Given the description of an element on the screen output the (x, y) to click on. 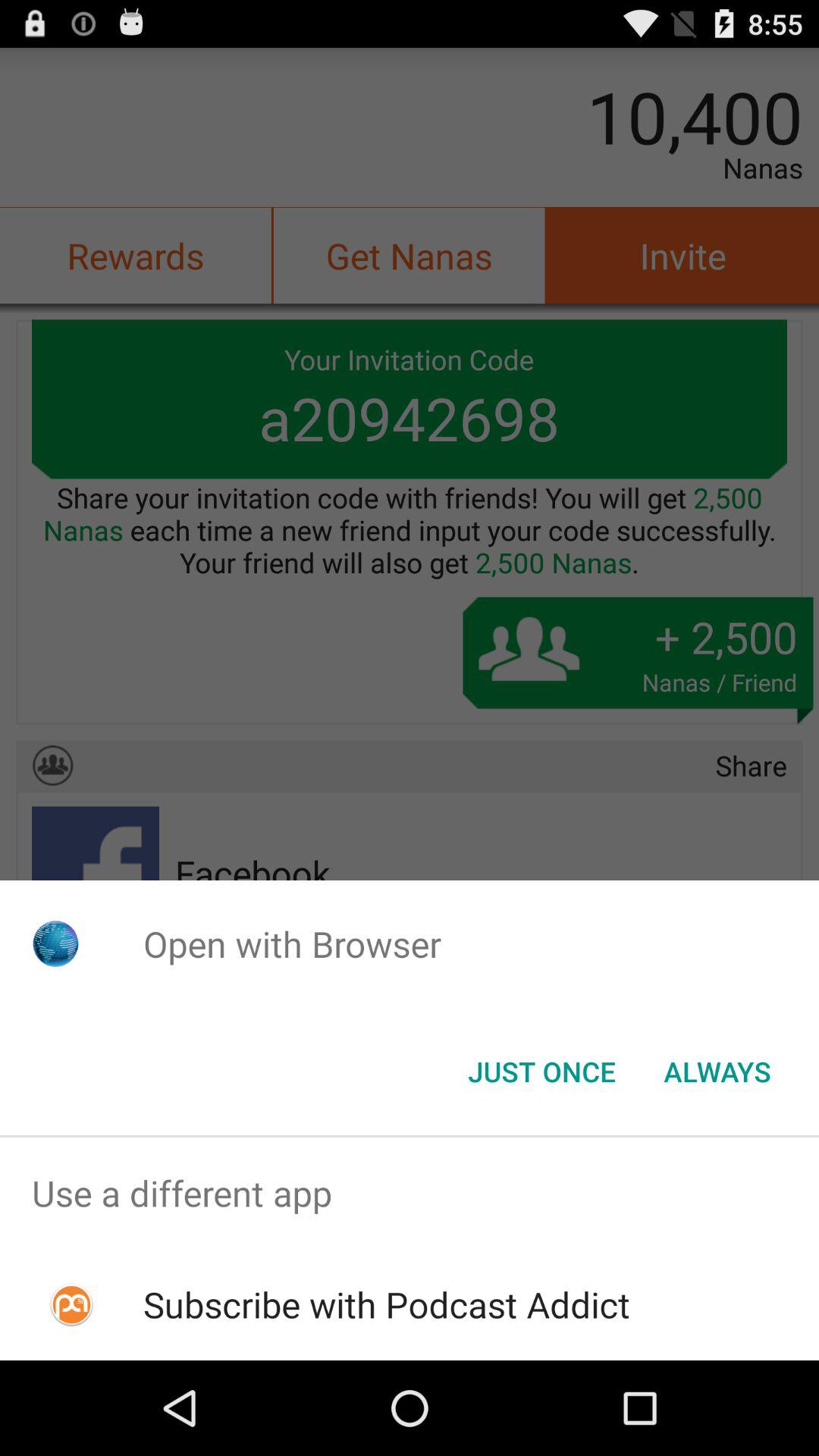
scroll to the subscribe with podcast item (386, 1304)
